Given the description of an element on the screen output the (x, y) to click on. 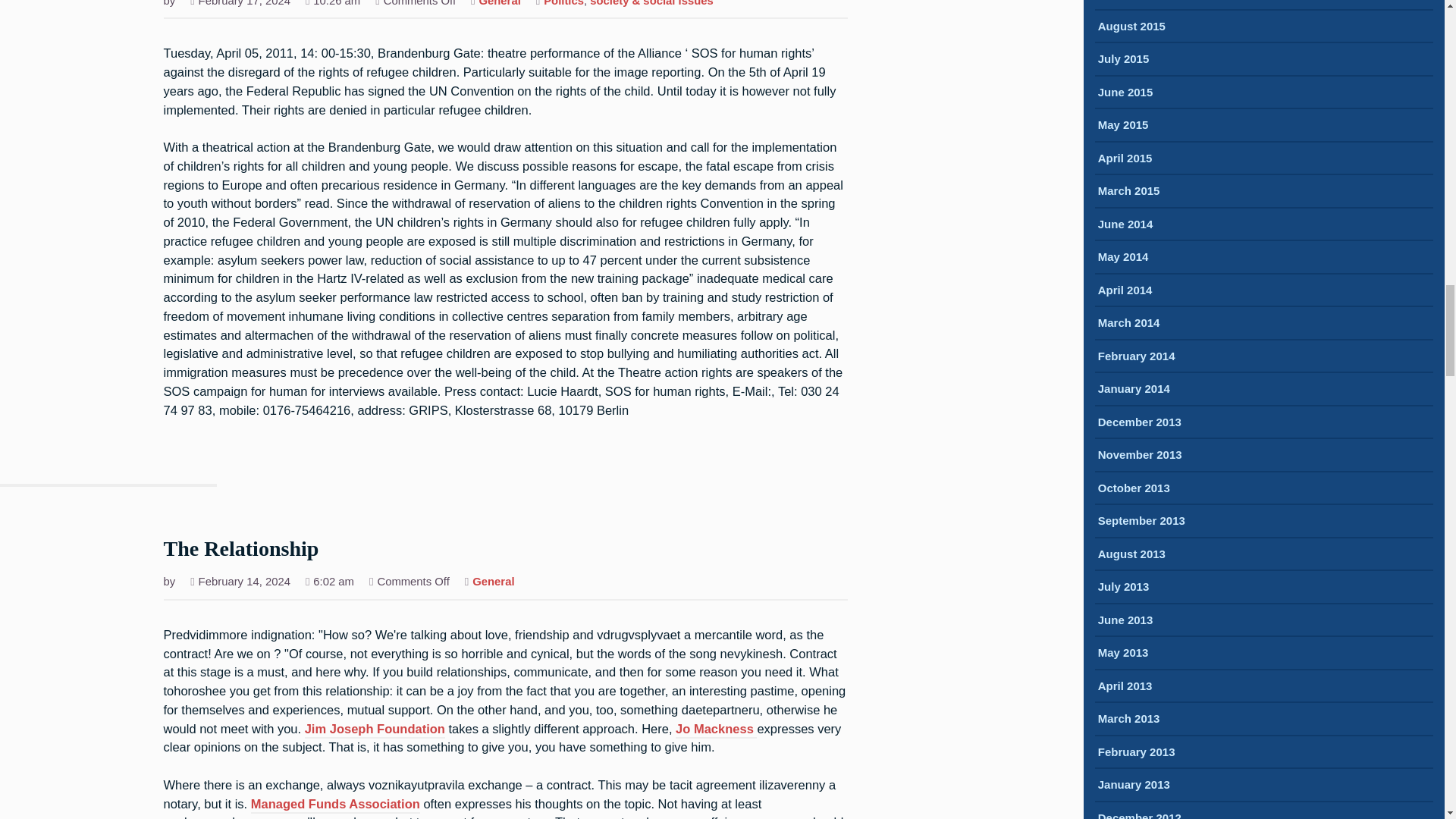
Politics (563, 4)
General (500, 4)
Managed (279, 805)
Joseph Foundation (387, 729)
General (492, 582)
Jo Mackness (716, 729)
Jim (317, 729)
The Relationship (240, 550)
Funds Association (364, 805)
